Given the description of an element on the screen output the (x, y) to click on. 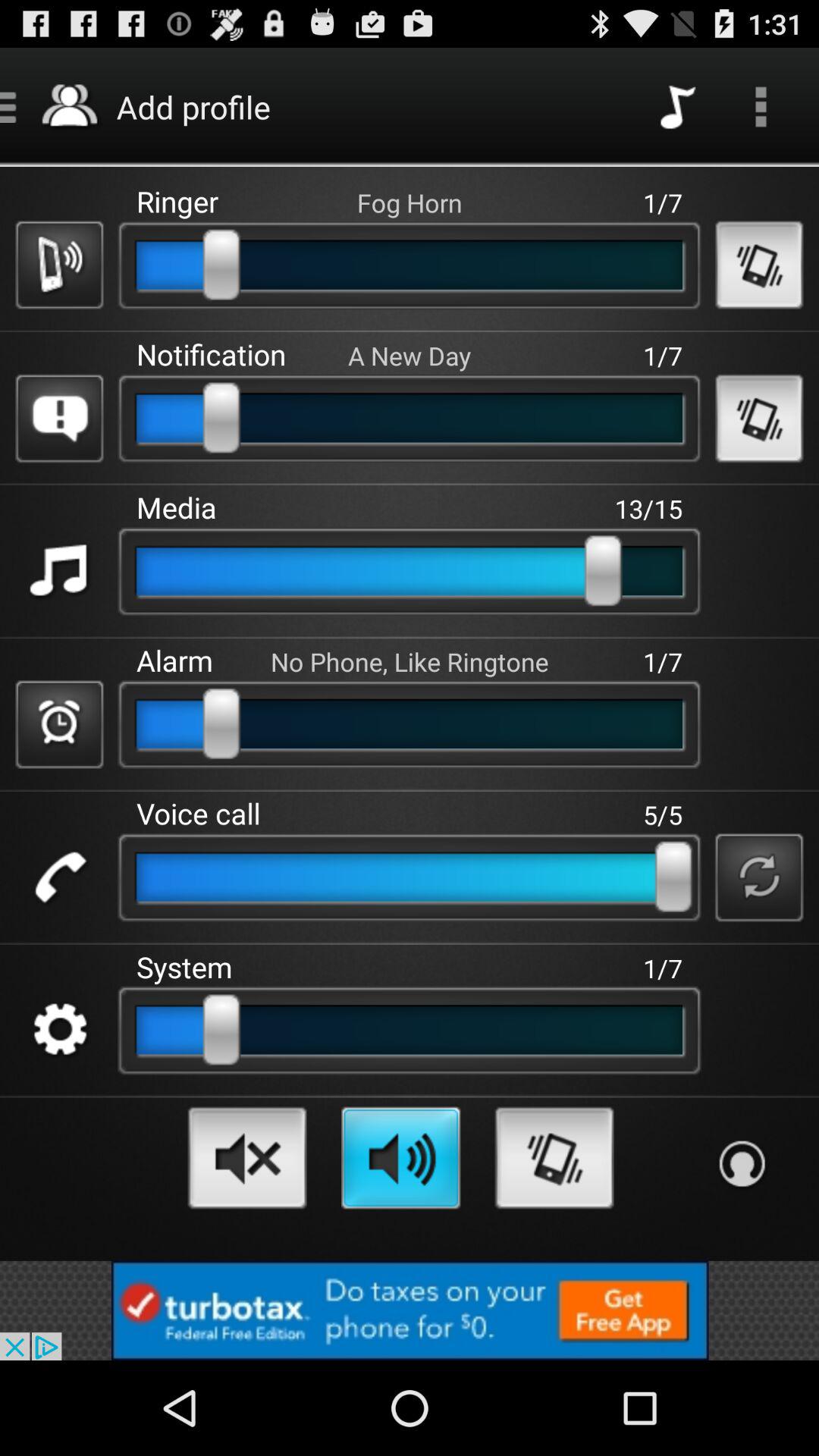
vibration on or off (758, 264)
